Given the description of an element on the screen output the (x, y) to click on. 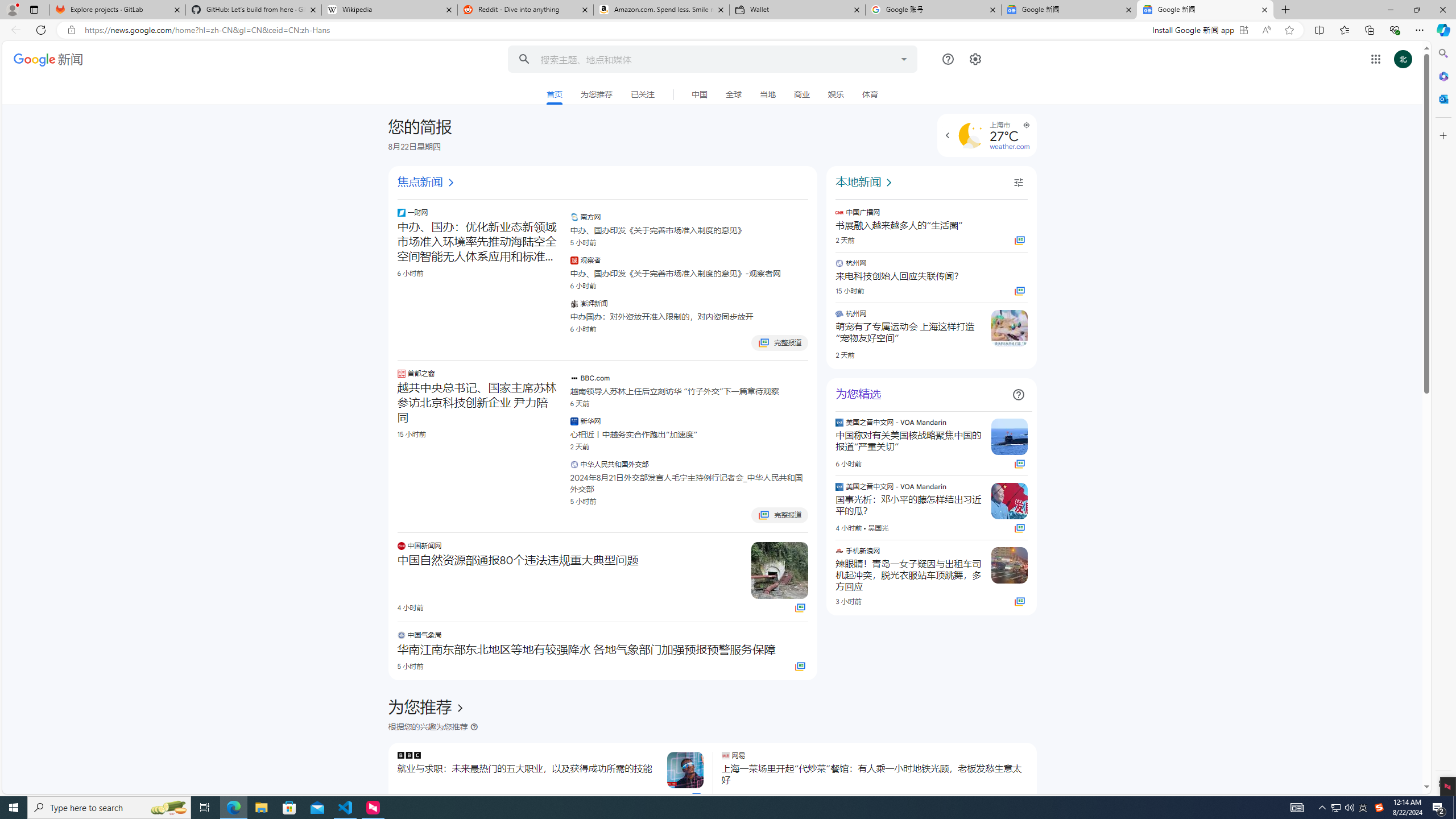
Amazon.com. Spend less. Smile more. (660, 9)
Class: VCnfNe (711, 94)
Wallet (797, 9)
